Given the description of an element on the screen output the (x, y) to click on. 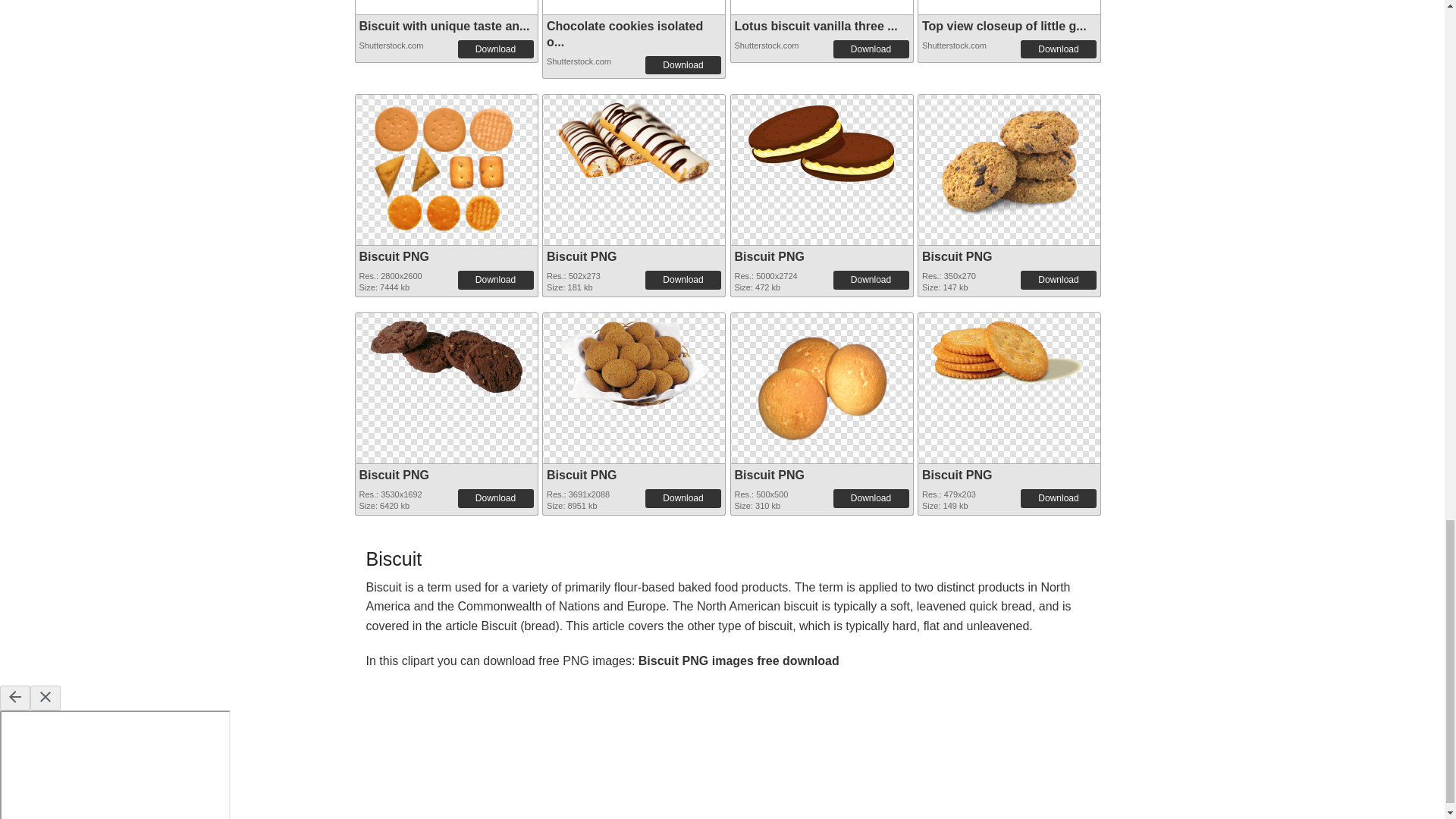
Biscuit PNG (633, 138)
Download (870, 49)
Biscuit PNG (768, 256)
Biscuit PNG (956, 256)
Biscuit PNG (633, 139)
Download (682, 65)
Biscuit PNG (394, 256)
Download (870, 280)
Biscuit PNG (821, 139)
Lotus biscuit vanilla three ... (814, 25)
